Given the description of an element on the screen output the (x, y) to click on. 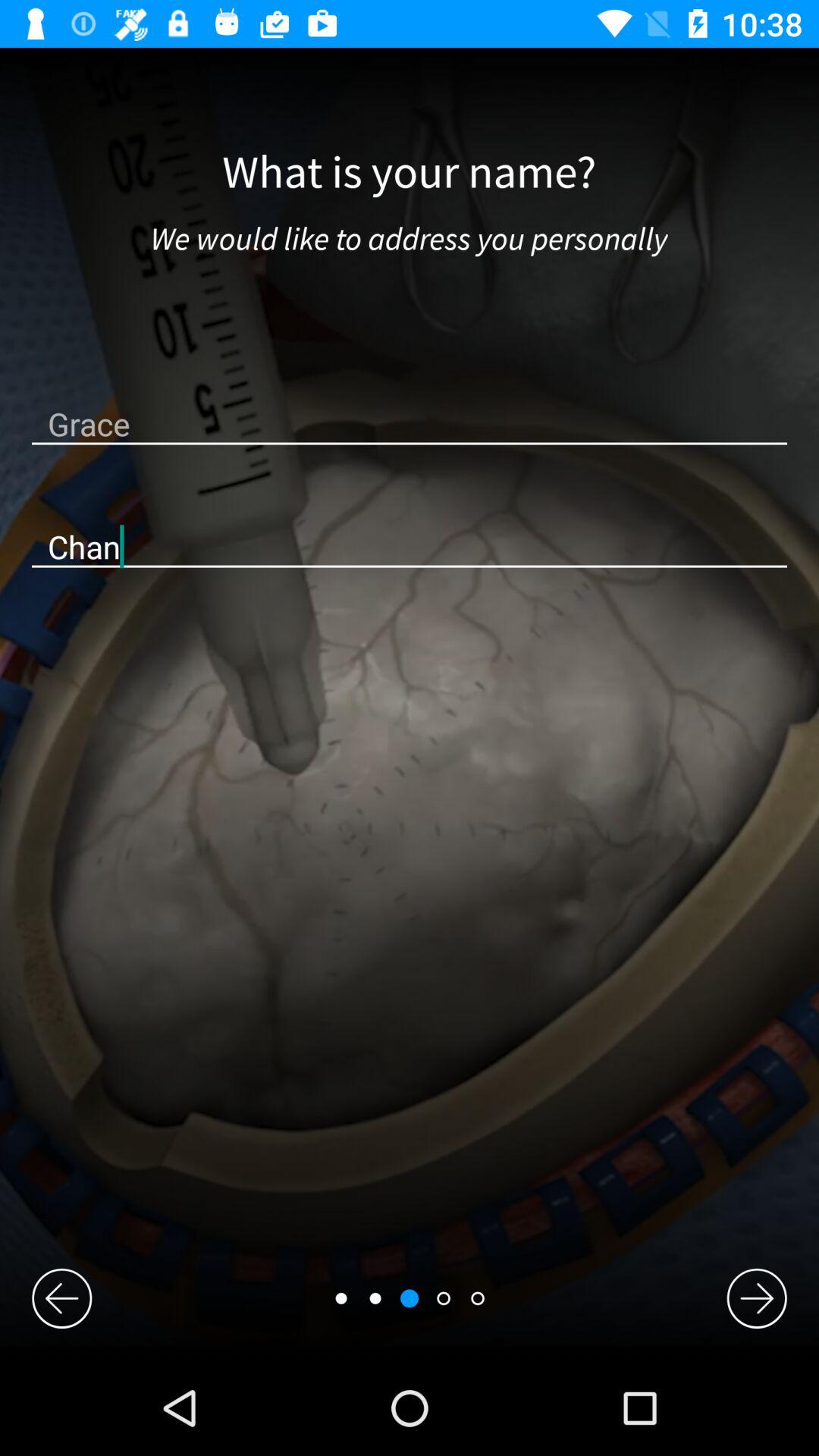
jump to the what is your icon (409, 173)
